Given the description of an element on the screen output the (x, y) to click on. 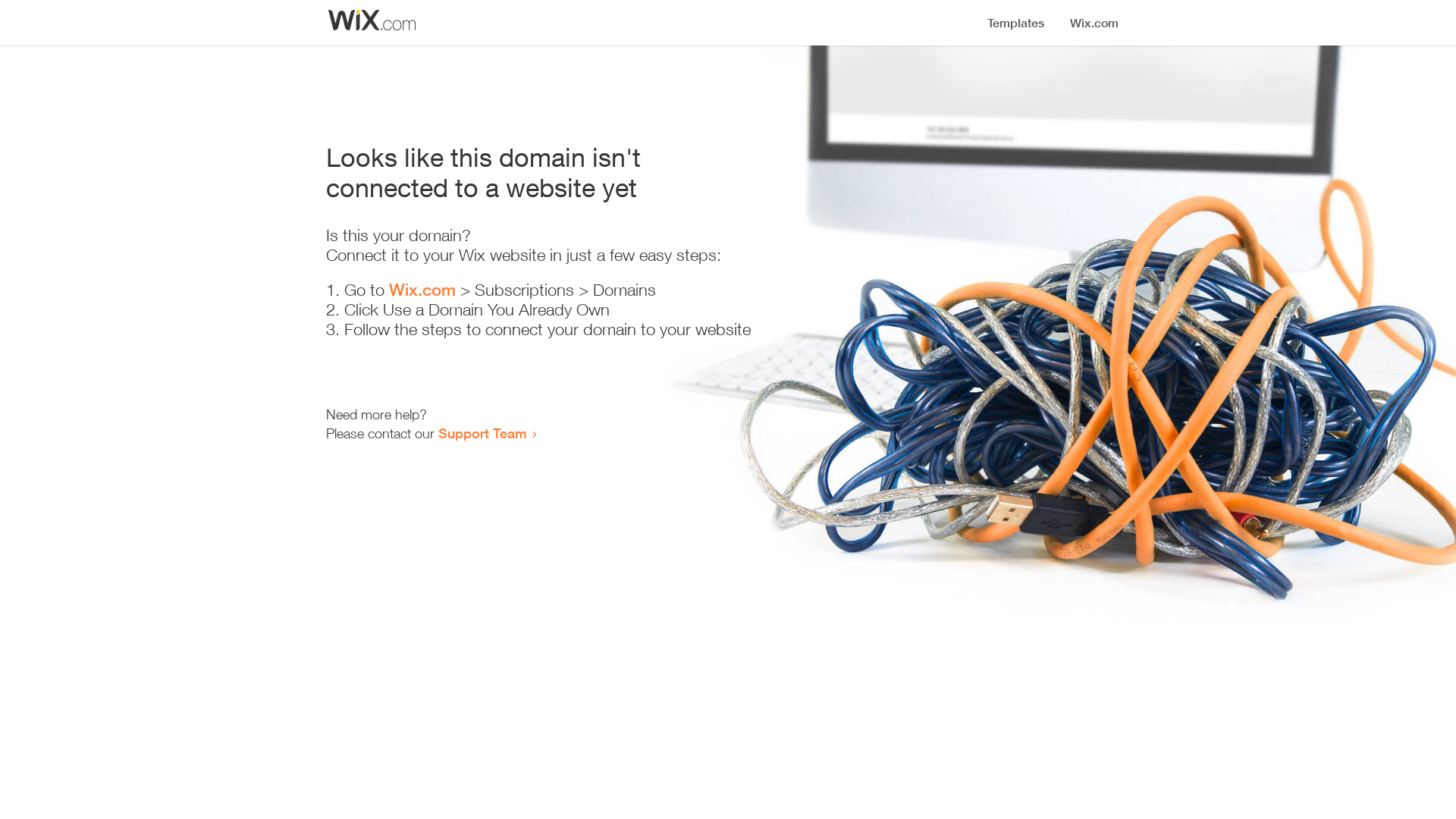
Wix.com Element type: text (422, 289)
Support Team Element type: text (482, 432)
